Given the description of an element on the screen output the (x, y) to click on. 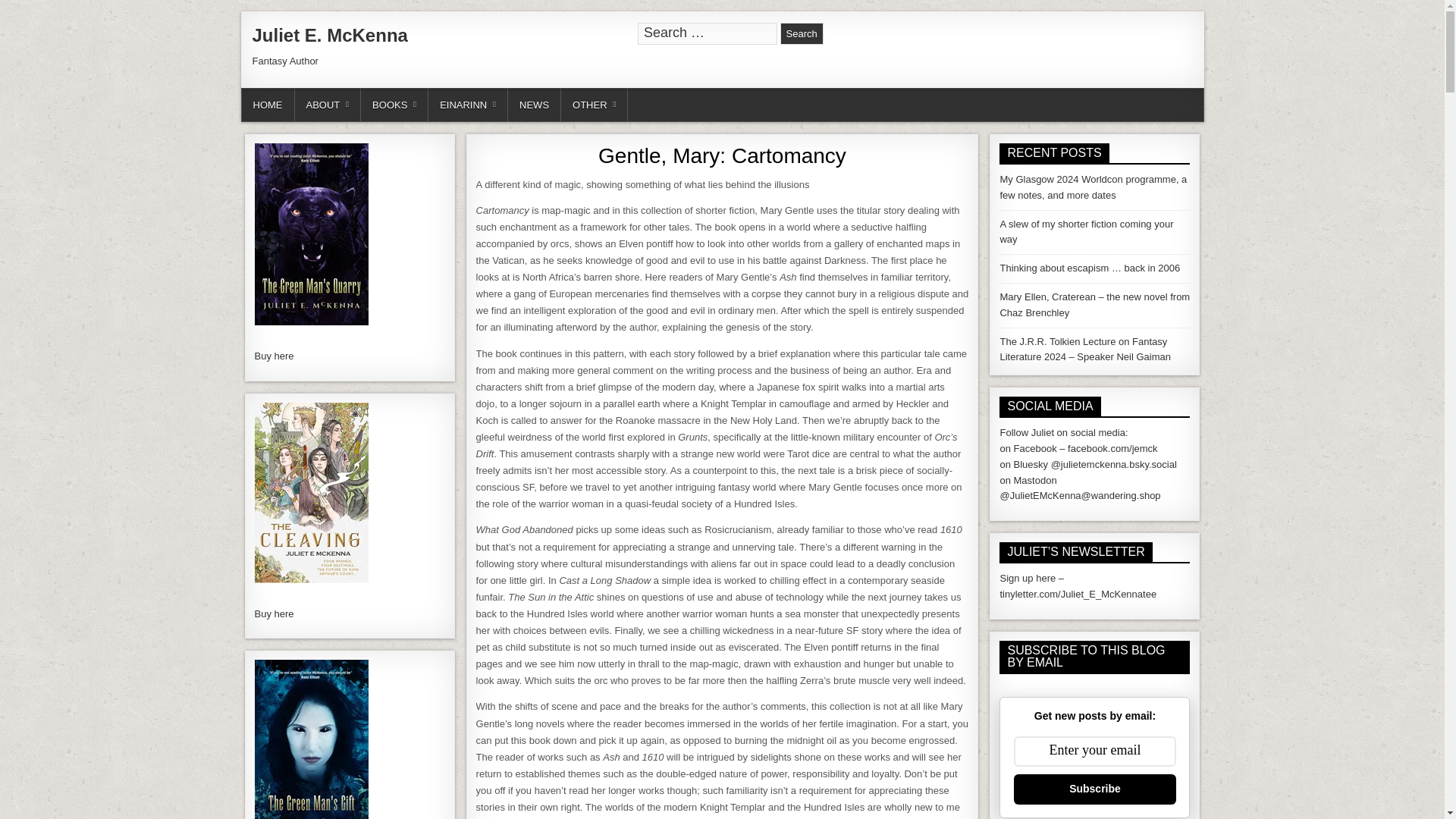
BOOKS (394, 104)
Juliet E. McKenna (329, 35)
HOME (267, 104)
ABOUT (327, 104)
Search (802, 33)
Search (802, 33)
Search (802, 33)
